Given the description of an element on the screen output the (x, y) to click on. 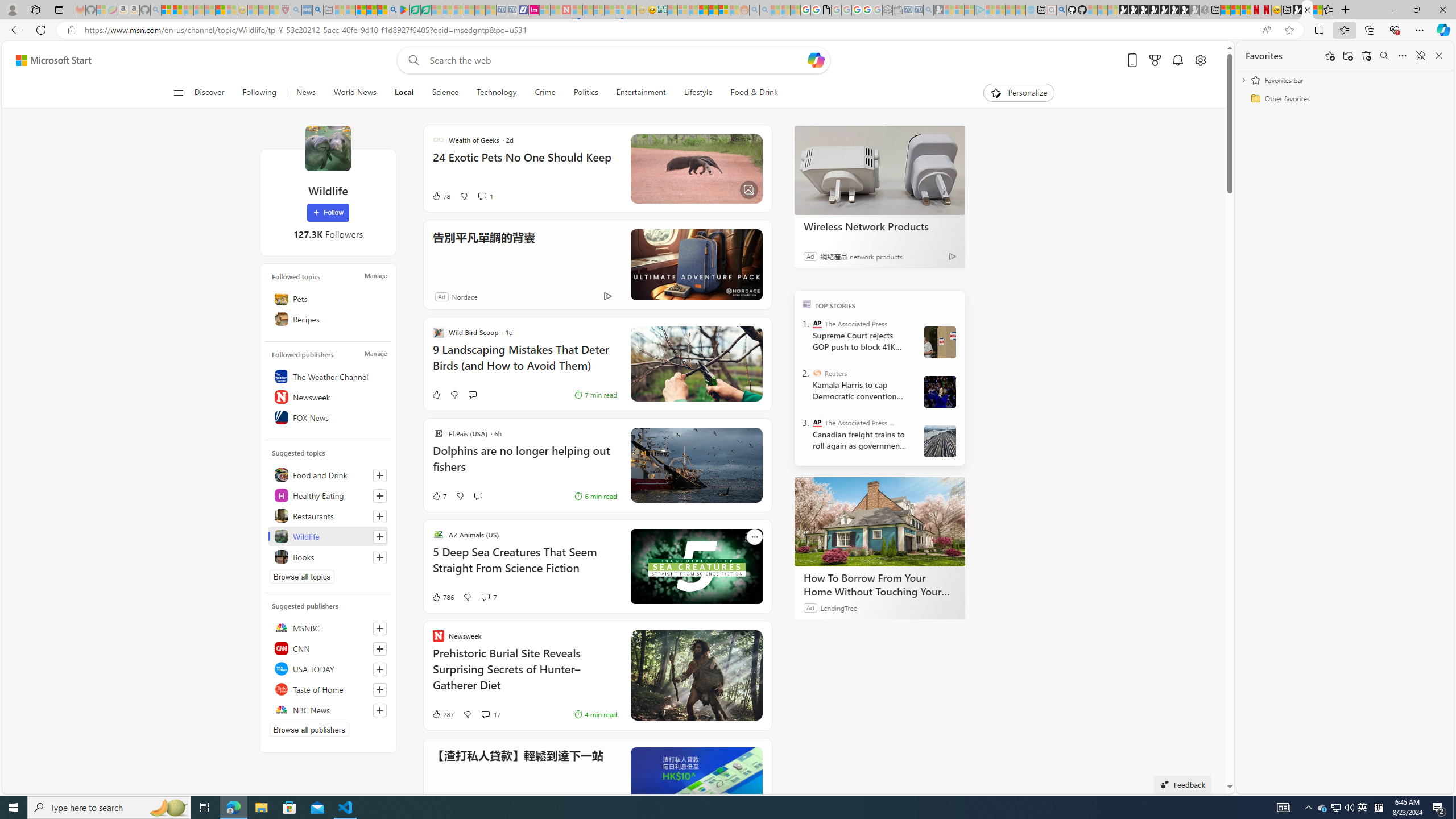
The Weather Channel (327, 376)
786 Like (442, 597)
